Given the description of an element on the screen output the (x, y) to click on. 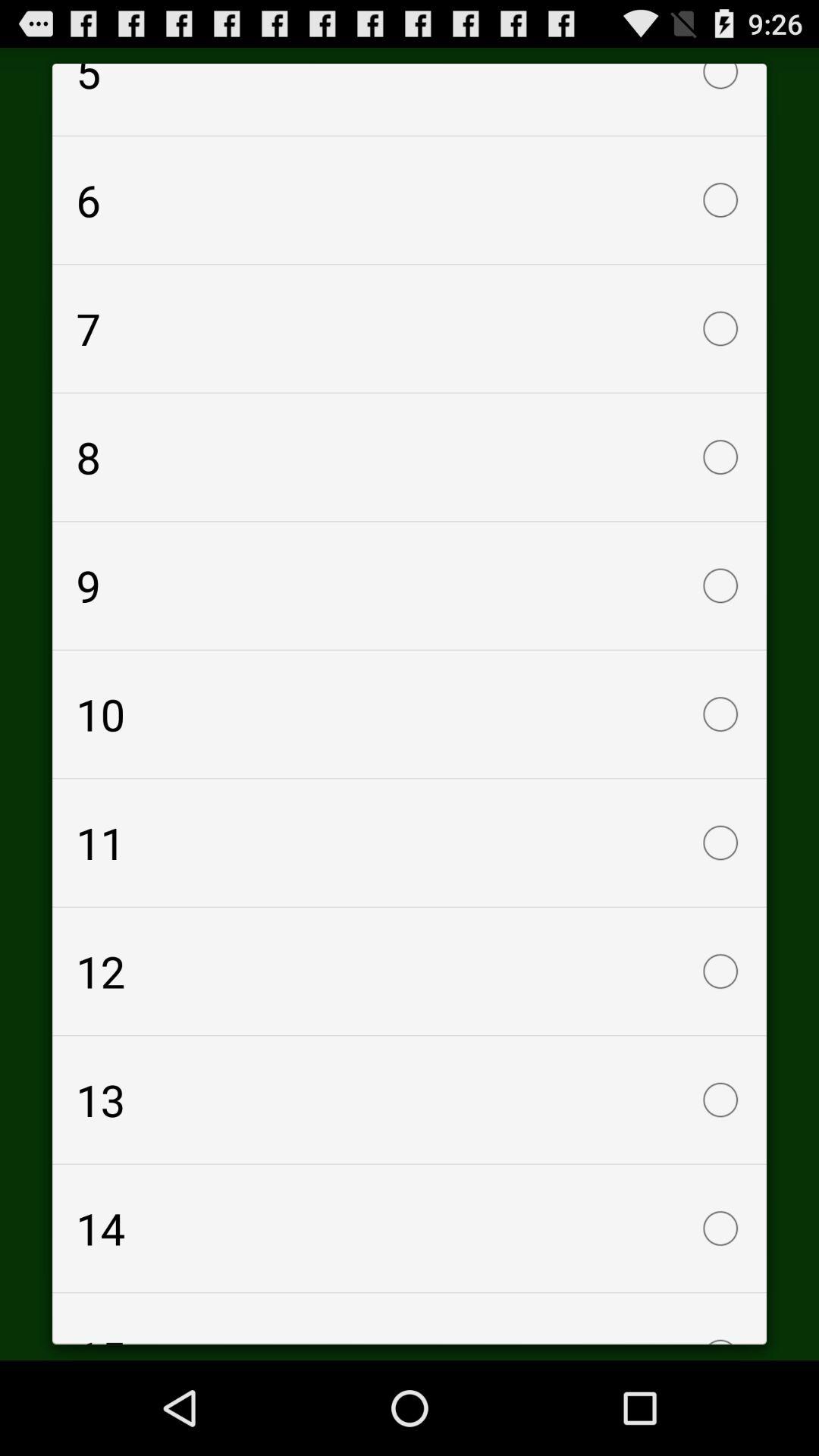
tap the 10 item (409, 714)
